Given the description of an element on the screen output the (x, y) to click on. 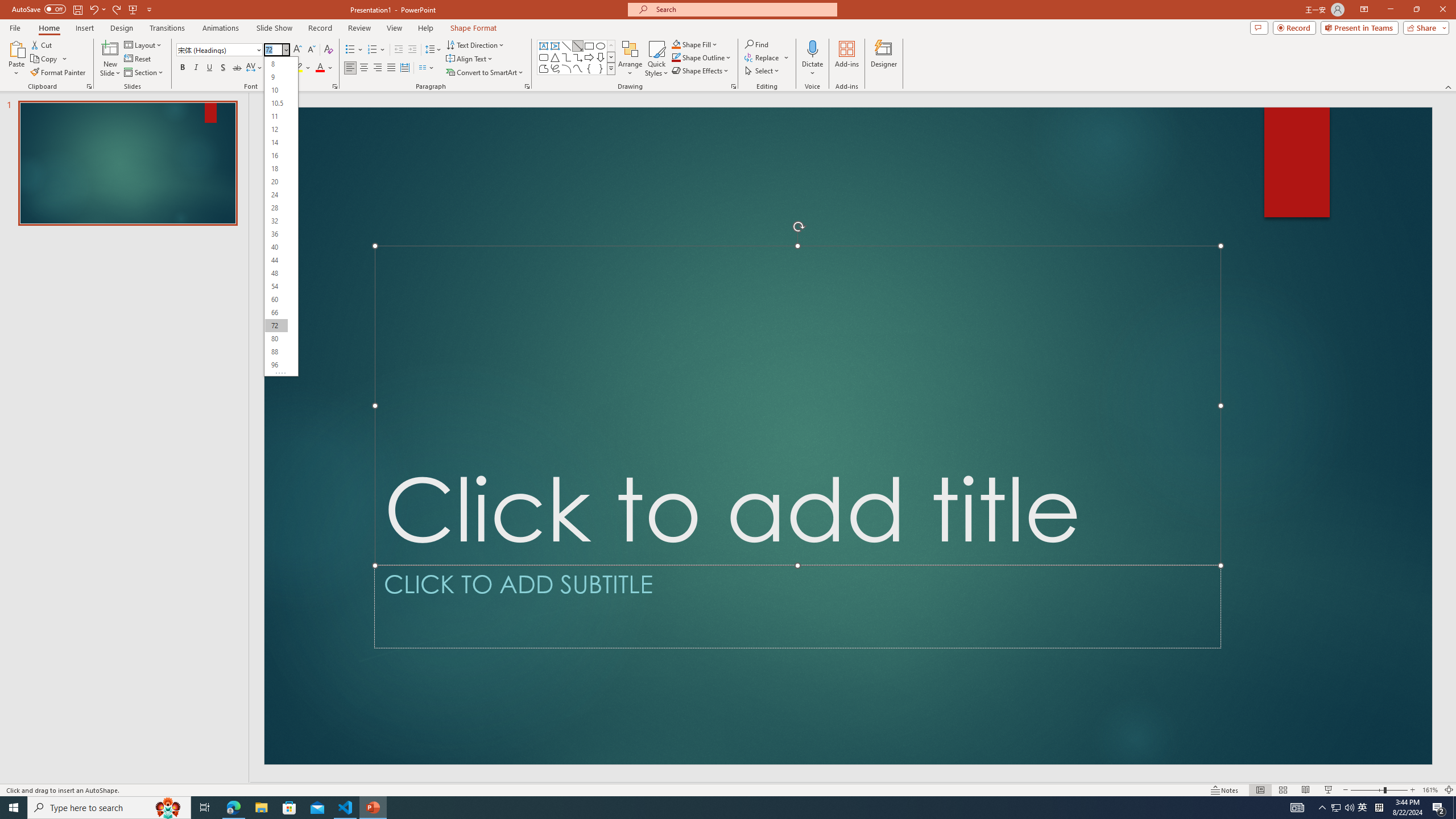
14 (276, 142)
